Given the description of an element on the screen output the (x, y) to click on. 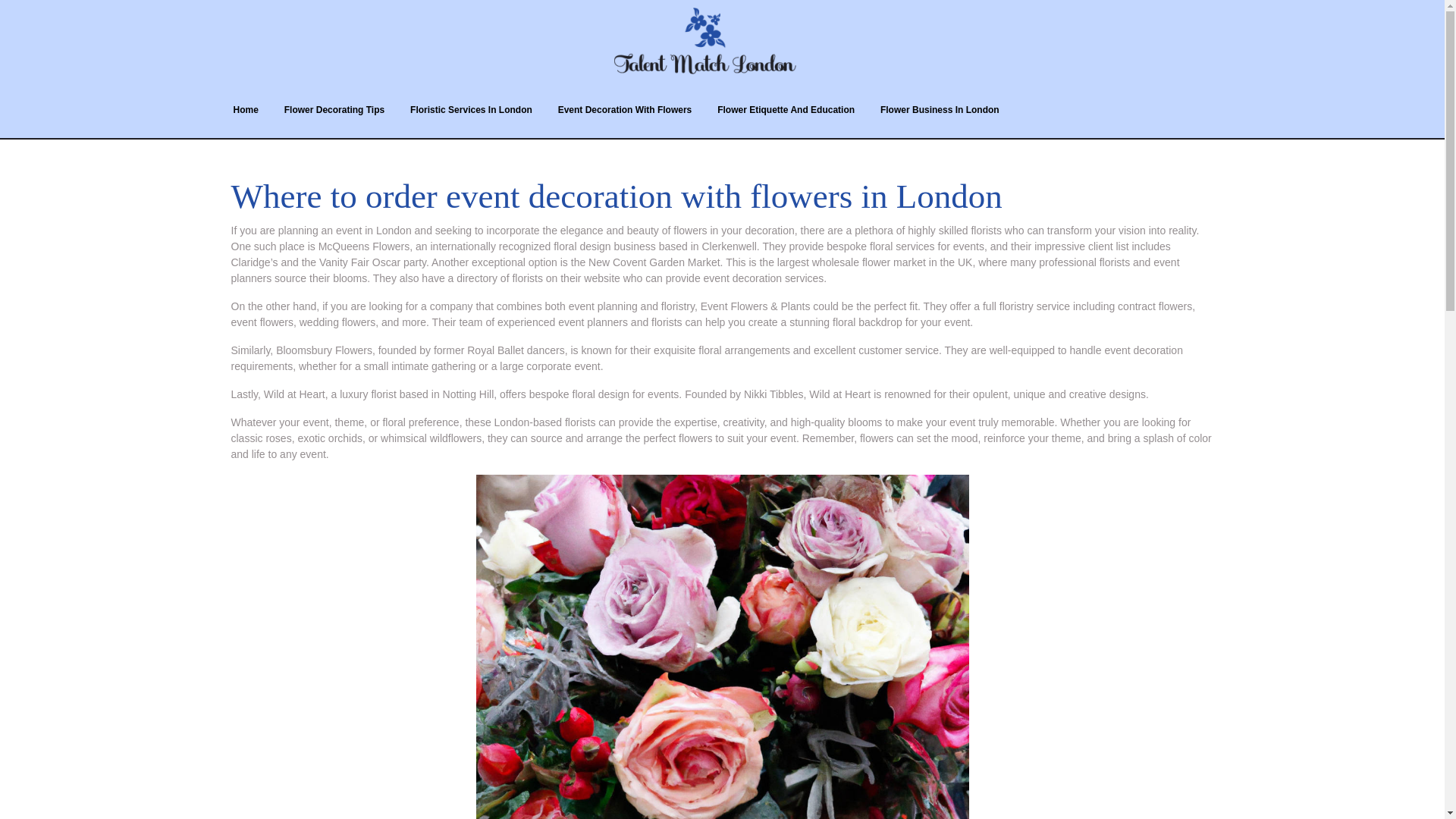
Home (245, 110)
Event Decoration With Flowers (625, 110)
Flower Business In London (939, 110)
Flower Decorating Tips (334, 110)
Floristic Services In London (470, 110)
Flower Etiquette And Education (786, 110)
